Given the description of an element on the screen output the (x, y) to click on. 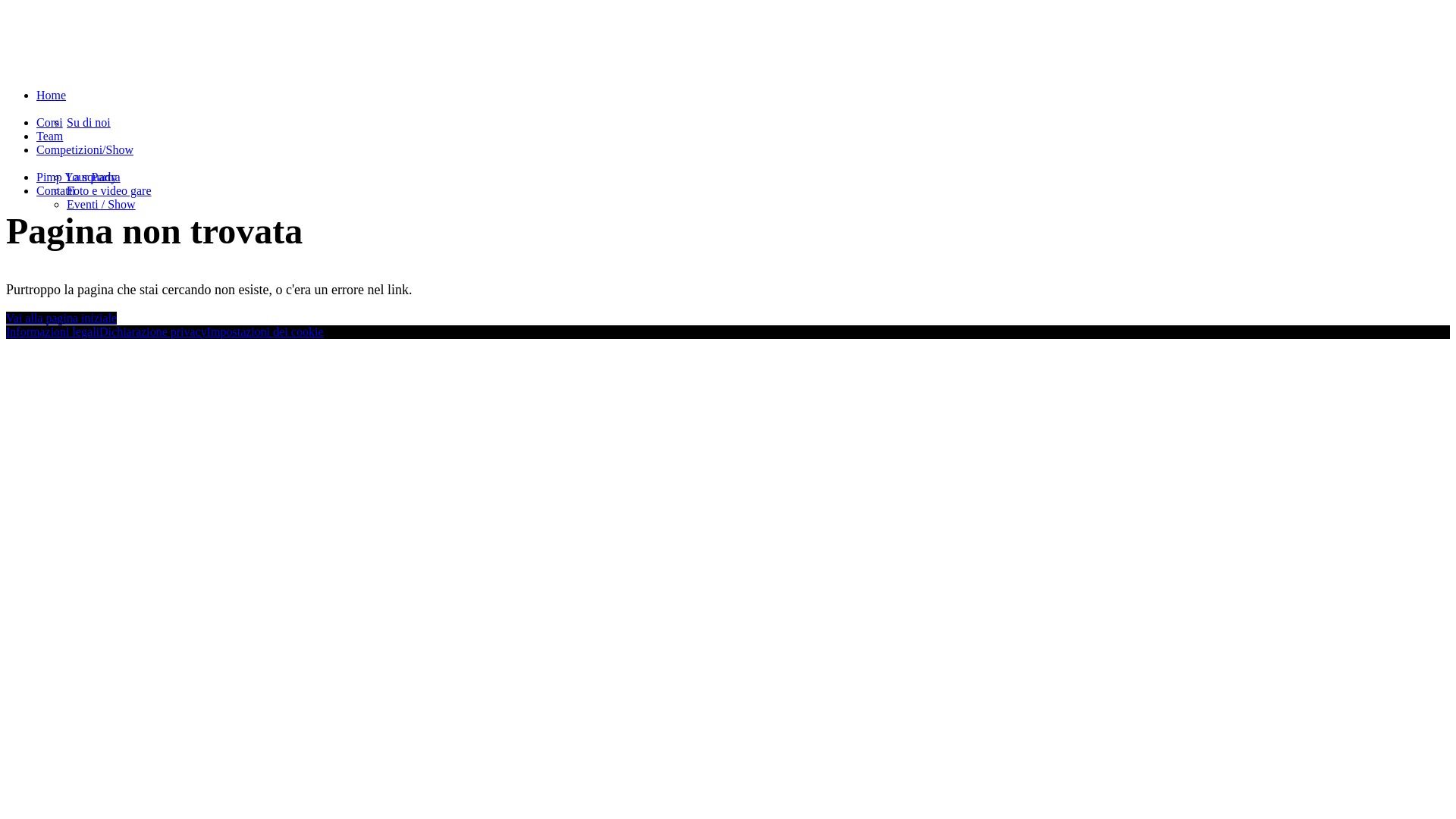
Vai alla pagina iniziale Element type: text (61, 316)
Su di noi Element type: text (88, 122)
Eventi / Show Element type: text (100, 203)
Pimp Your Party Element type: text (76, 176)
Contatti Element type: text (55, 190)
Foto e video gare Element type: text (108, 190)
Competizioni/Show Element type: text (84, 149)
Informazioni legali Element type: text (52, 330)
Impostazioni dei cookie Element type: text (265, 330)
Team Element type: text (49, 135)
Home Element type: text (50, 94)
Corsi Element type: text (49, 122)
Dichiarazione privacy Element type: text (153, 330)
La squadra Element type: text (93, 176)
